Given the description of an element on the screen output the (x, y) to click on. 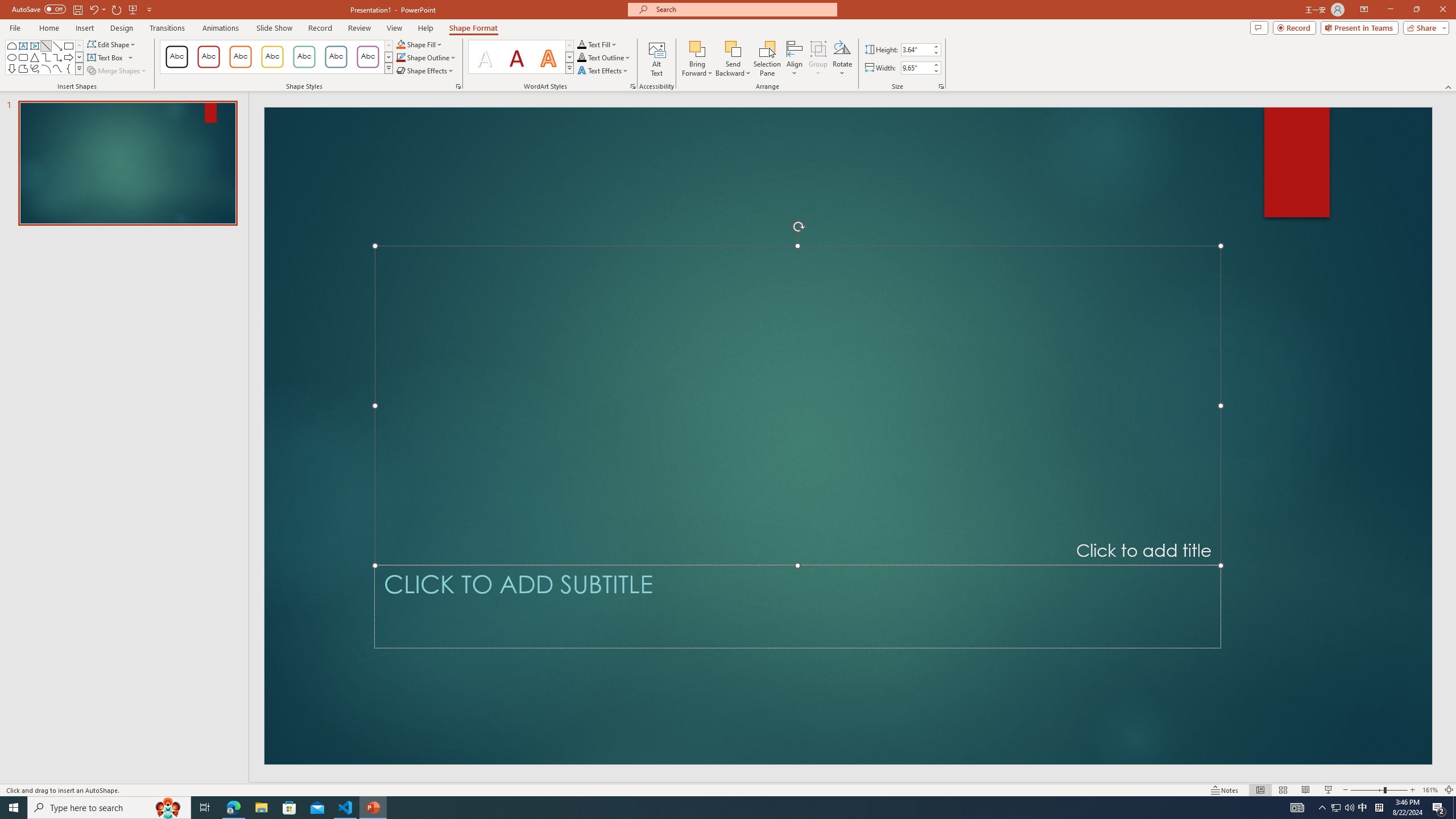
Freeform: Scribble (34, 68)
Shape Width (915, 67)
Arrow: Down (11, 68)
Line Arrow (57, 45)
AutomationID: ShapeStylesGallery (276, 56)
Text Outline RGB(0, 0, 0) (581, 56)
Format Object... (458, 85)
Shape Format (473, 28)
